Given the description of an element on the screen output the (x, y) to click on. 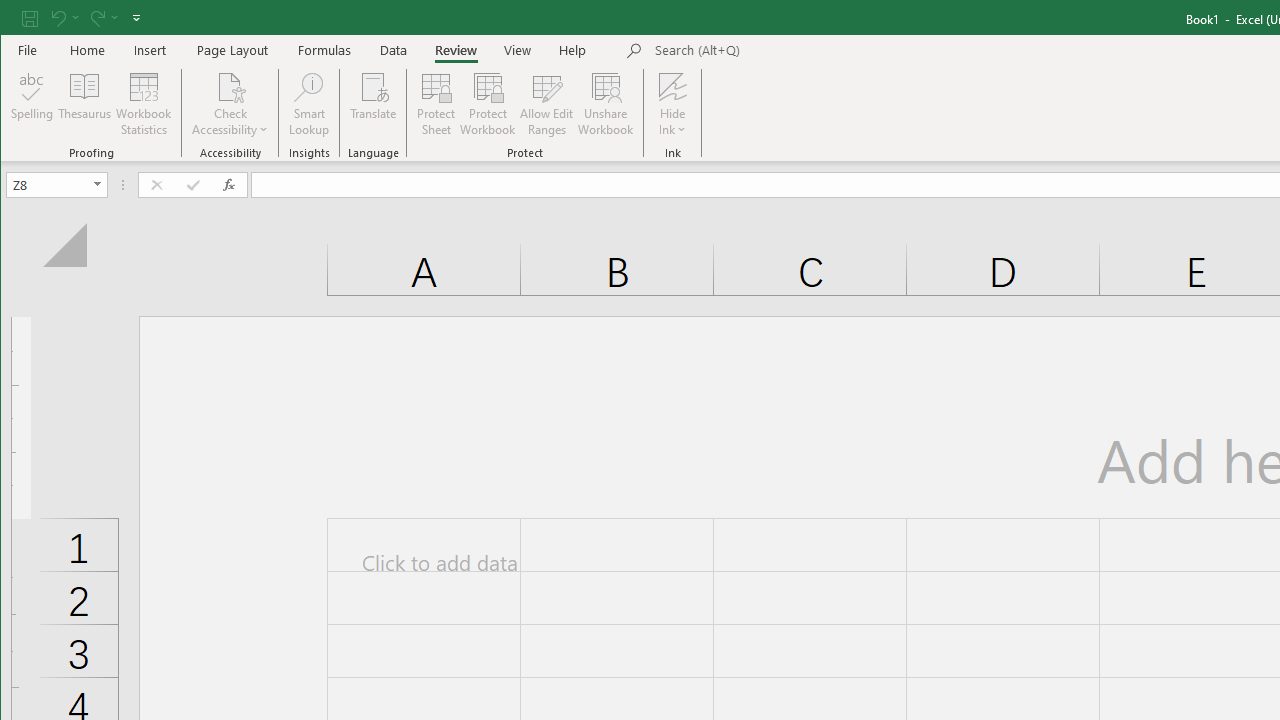
Hide Ink (672, 86)
Spelling... (32, 104)
Allow Edit Ranges (547, 104)
Hide Ink (672, 104)
Translate (373, 104)
Protect Sheet... (436, 104)
